Given the description of an element on the screen output the (x, y) to click on. 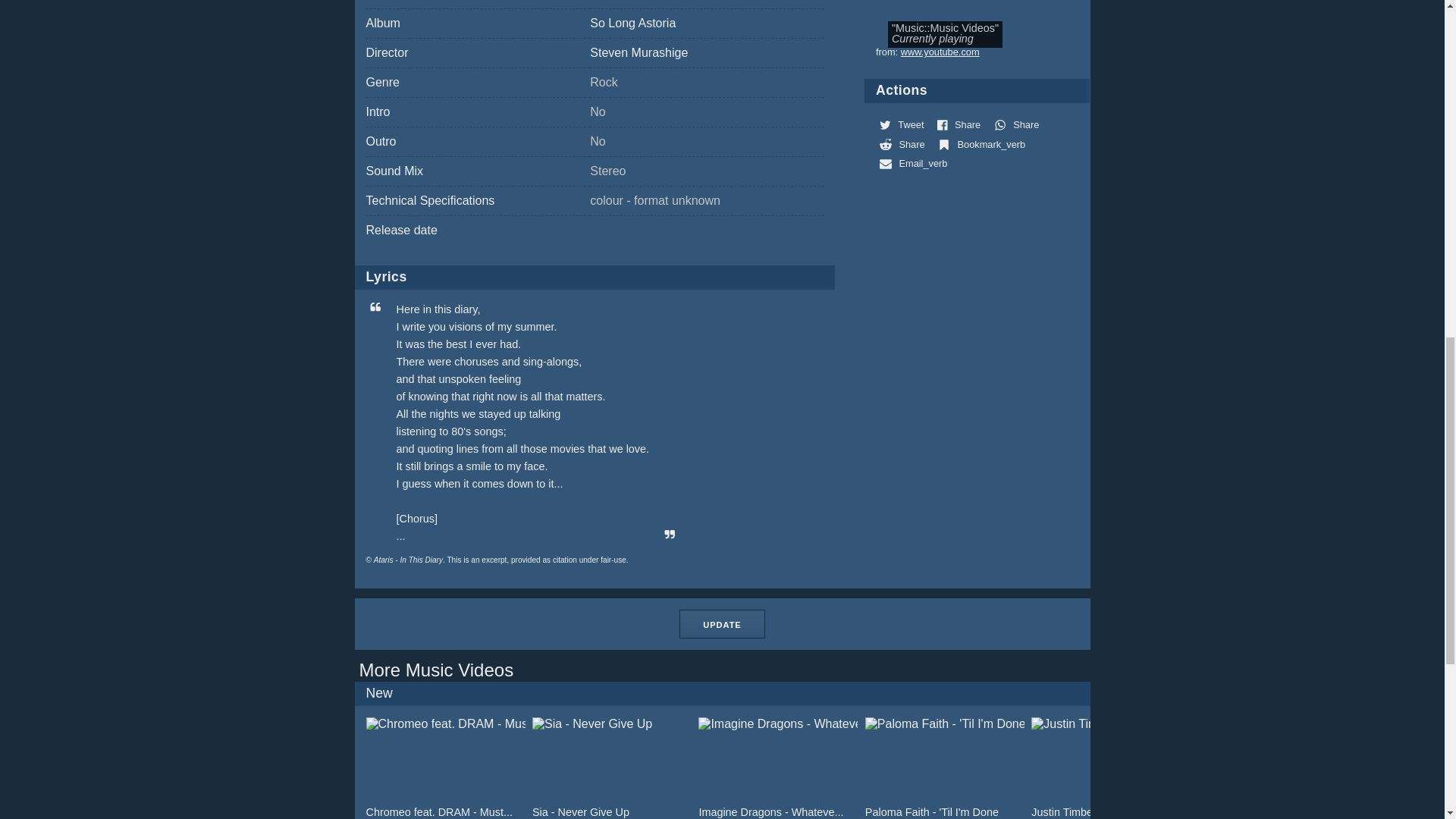
Share (1017, 123)
Share (903, 143)
Katy Perry - Hey Hey Hey (1277, 768)
Paloma Faith - 'Til I'm Done (944, 768)
Imagine Dragons - Whatever It Takes (777, 768)
Justin Timberlake feat. Chris Stapleton - Say Something (1110, 768)
Tweet (903, 123)
UPDATE (721, 623)
Music Videos Database (436, 670)
www.youtube.com (940, 51)
